Given the description of an element on the screen output the (x, y) to click on. 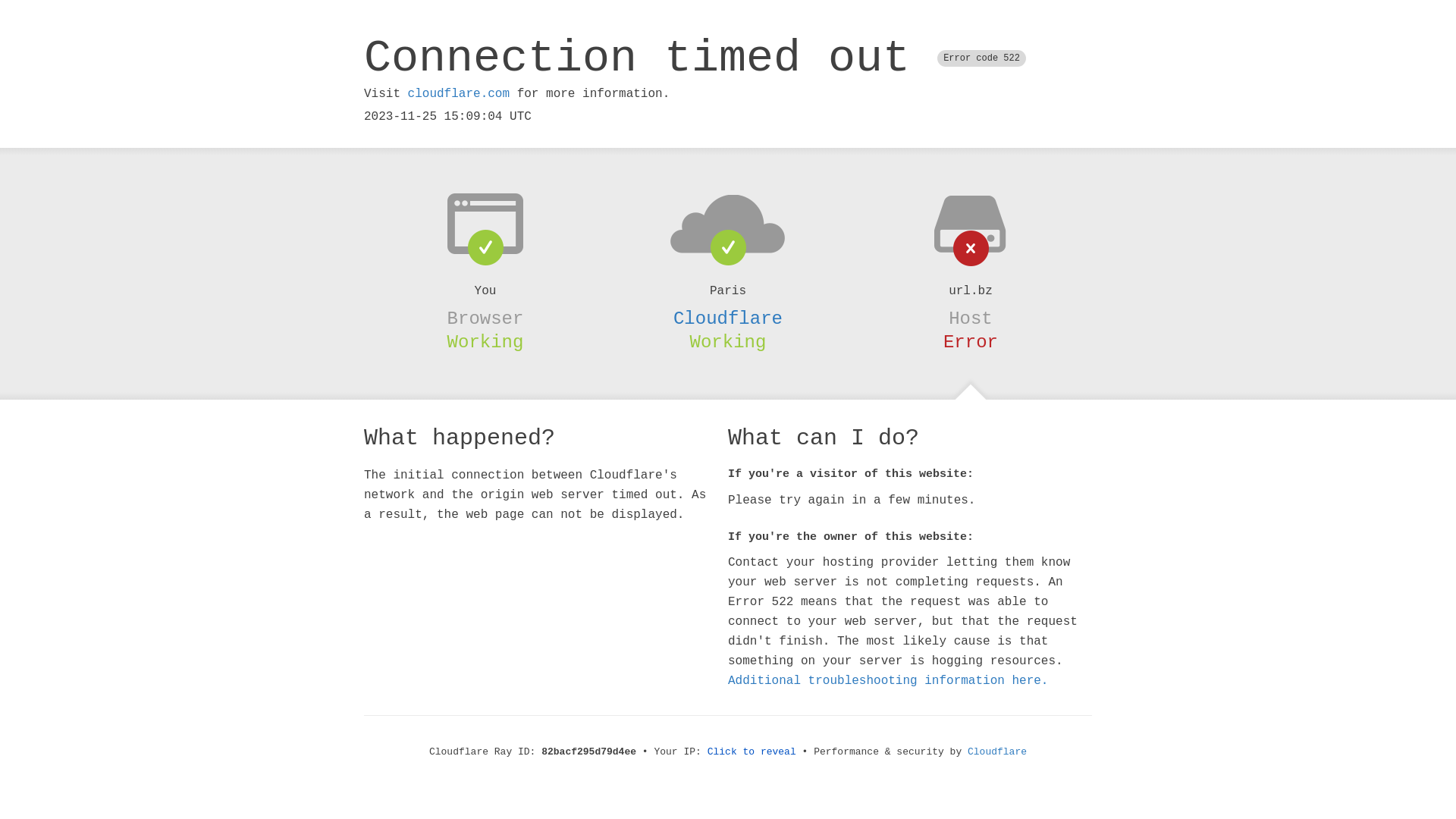
Click to reveal Element type: text (751, 751)
Cloudflare Element type: text (727, 318)
Cloudflare Element type: text (996, 751)
cloudflare.com Element type: text (458, 93)
Additional troubleshooting information here. Element type: text (888, 680)
